Given the description of an element on the screen output the (x, y) to click on. 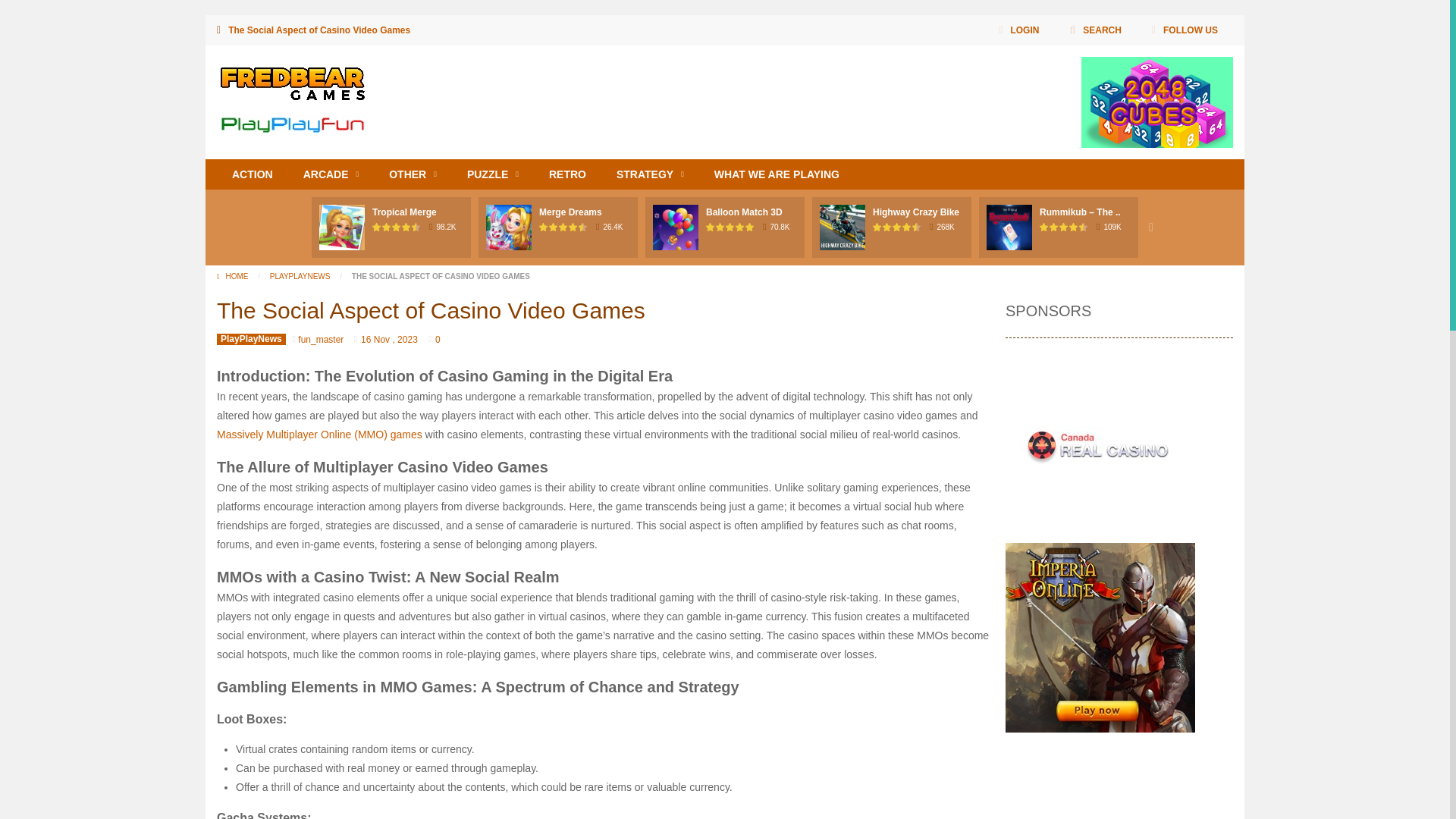
PUZZLE (492, 173)
LOGIN (1018, 30)
51 votes, average: 4.90 out of 5 (543, 226)
122 votes, average: 4.92 out of 5 (386, 226)
51 votes, average: 4.90 out of 5 (564, 226)
Tropical Merge (404, 212)
FOLLOW US (1184, 30)
Play? Play! Fun!!! (292, 99)
RETRO (567, 173)
STRATEGY (649, 173)
Advertisement (805, 90)
Play? Play! Fun!!! (292, 100)
122 votes, average: 4.92 out of 5 (396, 226)
OTHER (412, 173)
WHAT WE ARE PLAYING (776, 173)
